Given the description of an element on the screen output the (x, y) to click on. 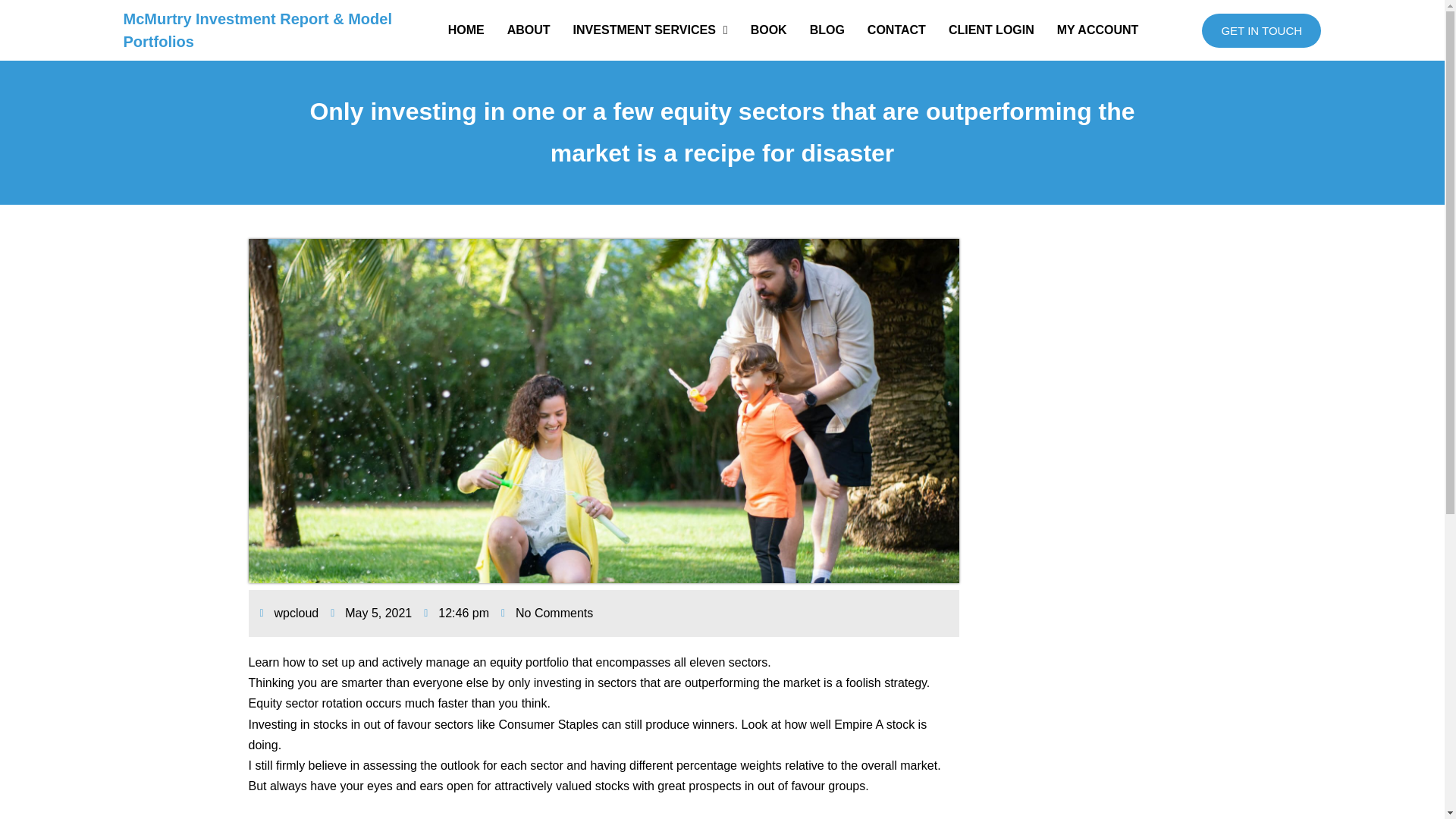
CONTACT (896, 30)
BOOK (768, 30)
ABOUT (529, 30)
CLIENT LOGIN (991, 30)
BLOG (826, 30)
INVESTMENT SERVICES (650, 30)
GET IN TOUCH (1261, 30)
MY ACCOUNT (1097, 30)
HOME (466, 30)
